Given the description of an element on the screen output the (x, y) to click on. 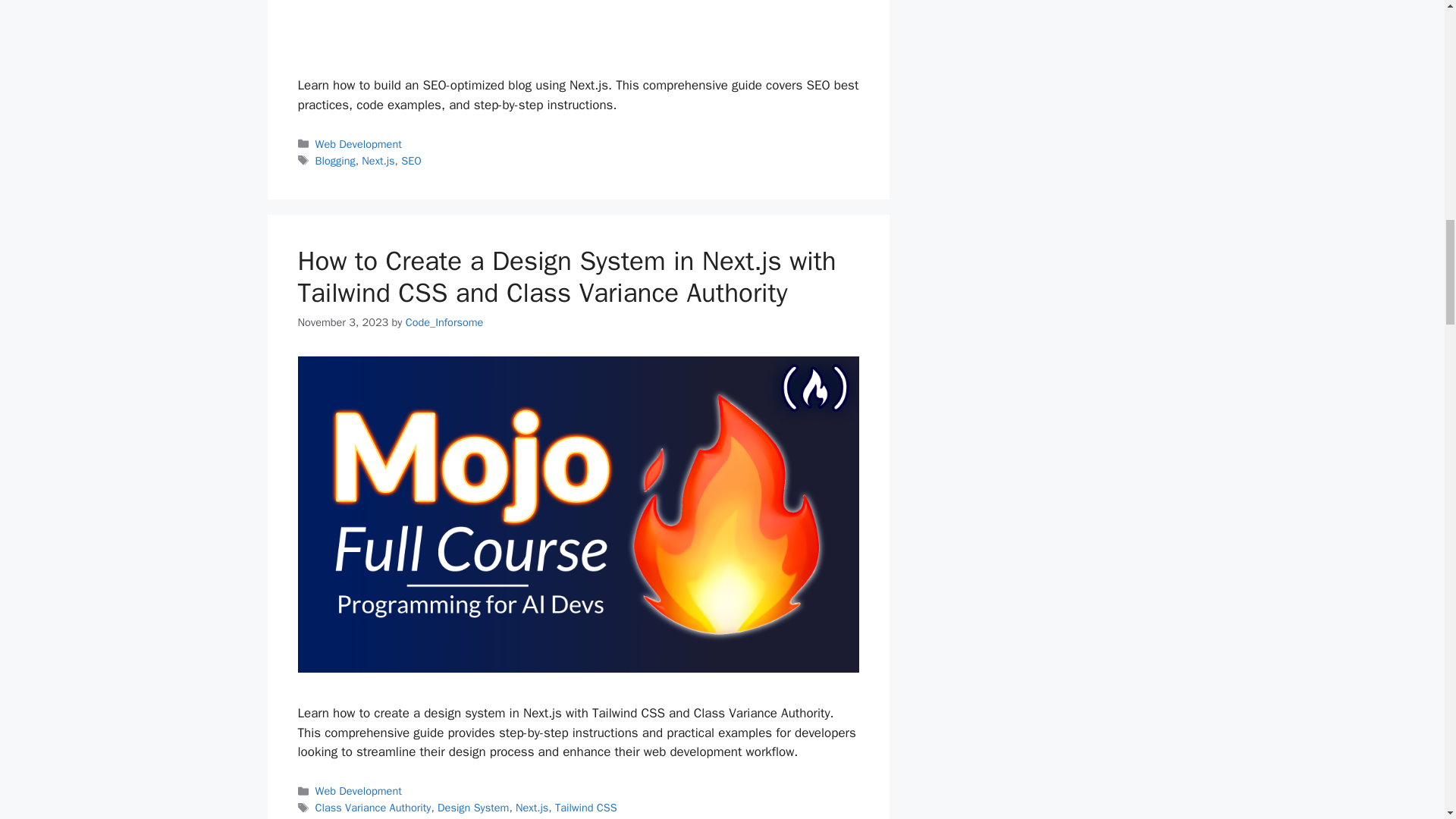
Blogging (335, 160)
SEO (411, 160)
Next.js (377, 160)
Web Development (358, 790)
Web Development (358, 143)
